Given the description of an element on the screen output the (x, y) to click on. 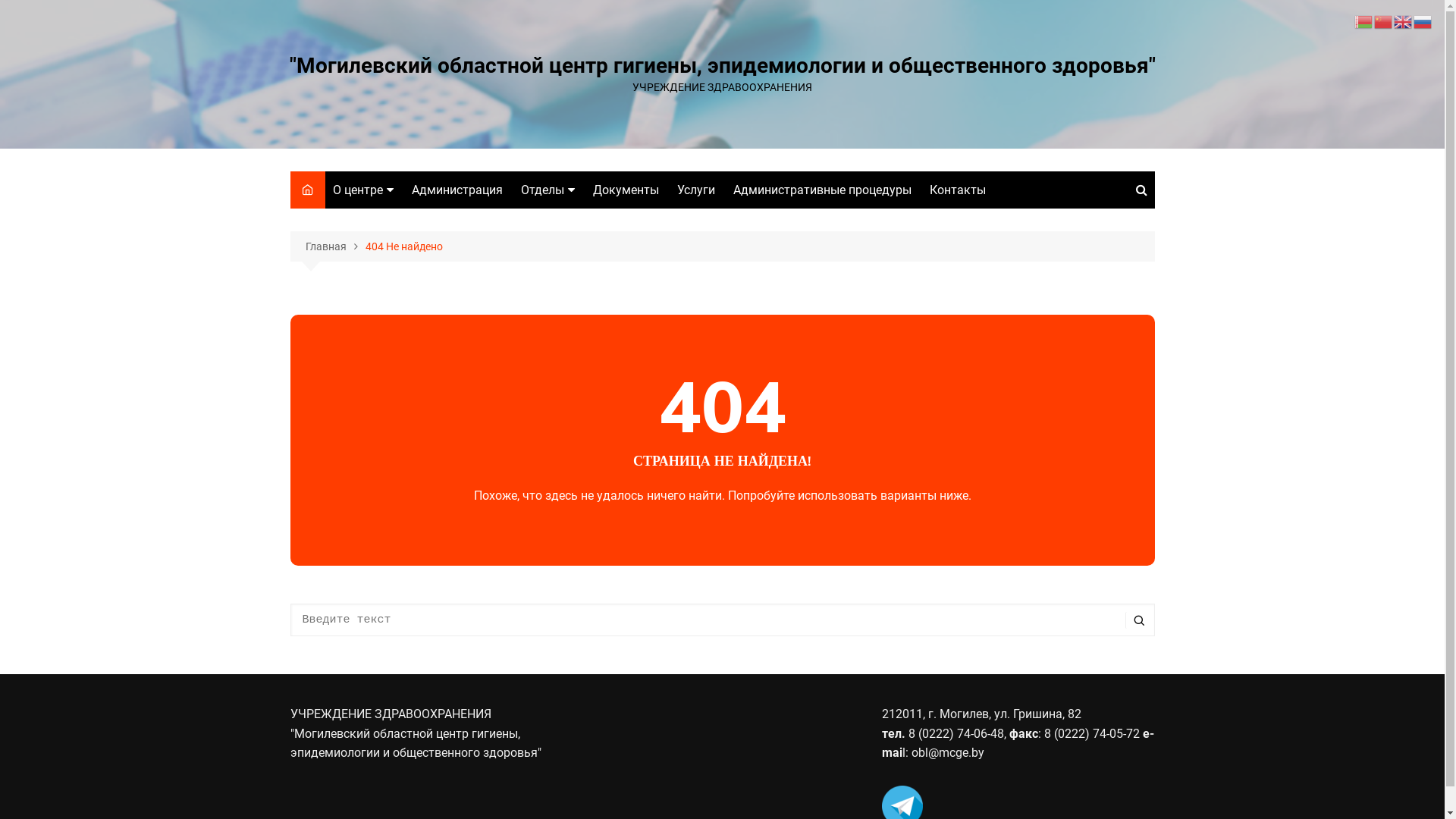
obl@mcge.by Element type: text (947, 752)
8 (0222) 74-06-48 Element type: text (954, 733)
Russian Element type: hover (1423, 20)
English Element type: hover (1403, 20)
Chinese (Simplified) Element type: hover (1383, 20)
Belarusian Element type: hover (1364, 20)
